Given the description of an element on the screen output the (x, y) to click on. 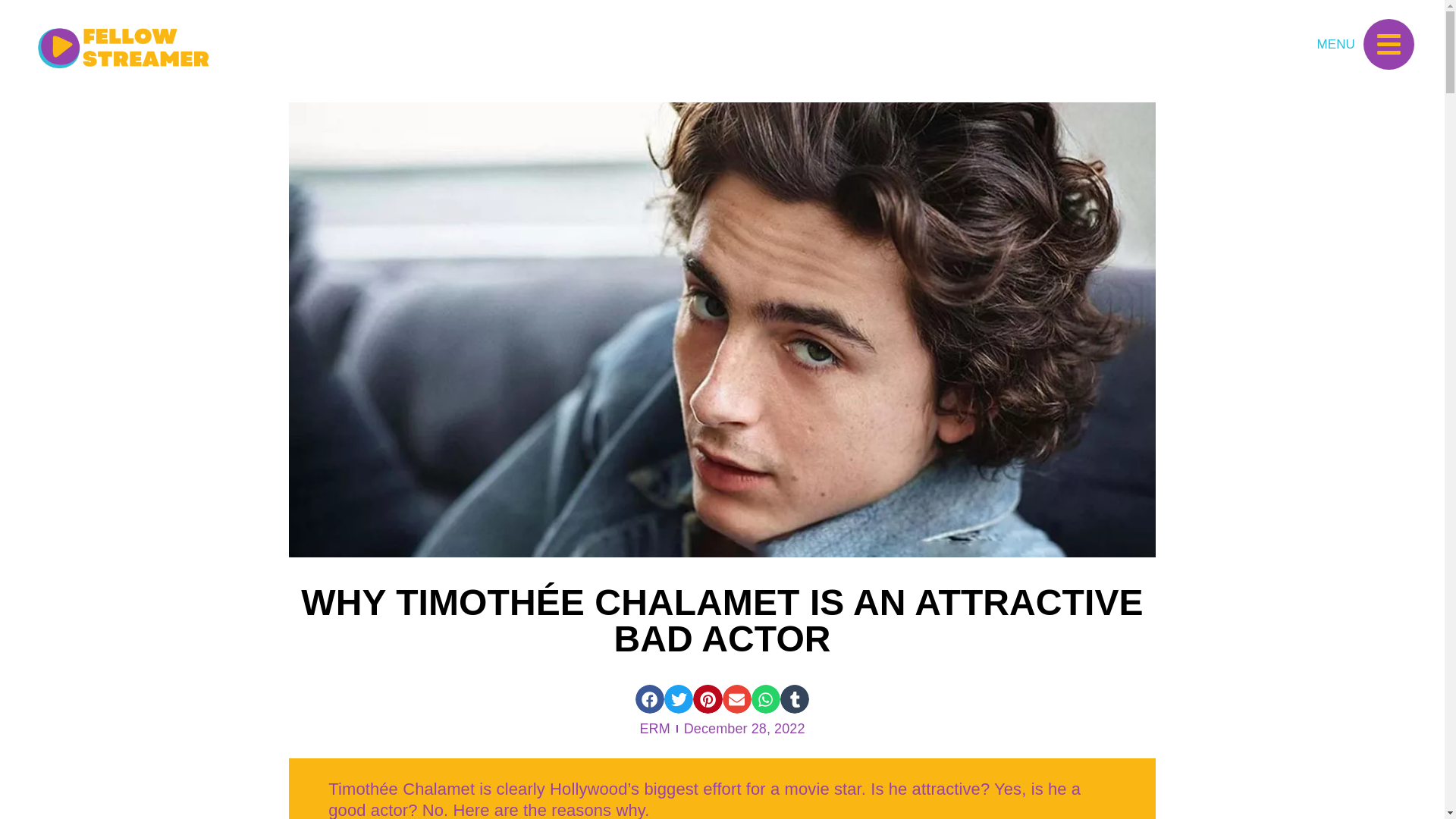
MENU (1336, 43)
